Given the description of an element on the screen output the (x, y) to click on. 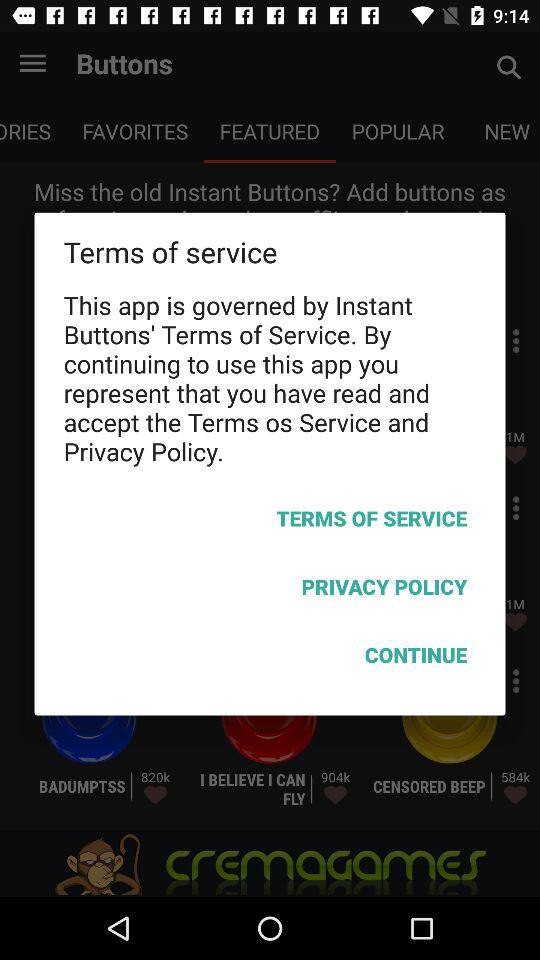
launch continue at the bottom (269, 658)
